Given the description of an element on the screen output the (x, y) to click on. 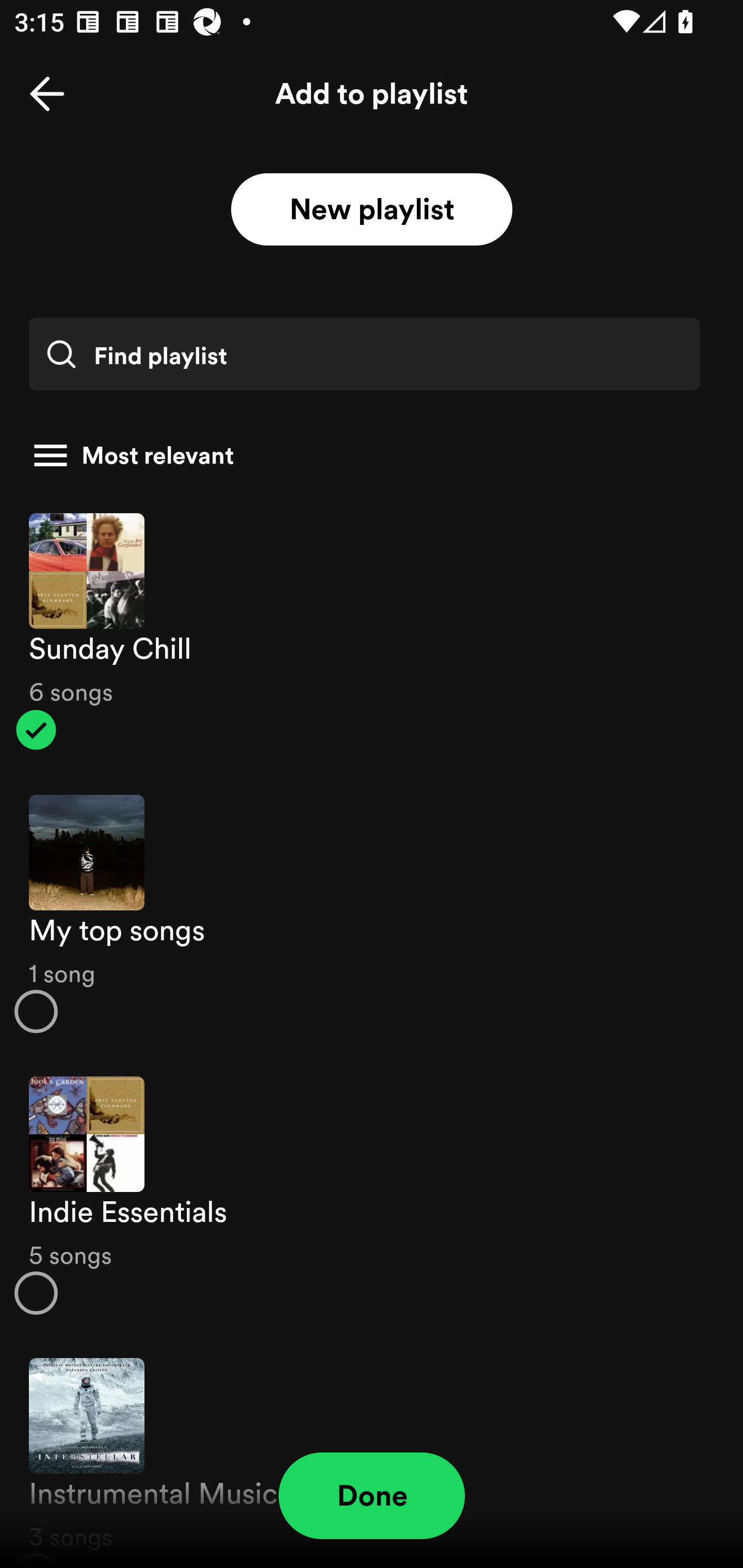
Back (46, 93)
New playlist (371, 210)
Find playlist (363, 354)
Most relevant (363, 455)
Sunday Chill 6 songs (371, 631)
My top songs 1 song (371, 914)
Indie Essentials 5 songs (371, 1195)
Instrumental Music 3 songs (371, 1451)
Done (371, 1495)
